Given the description of an element on the screen output the (x, y) to click on. 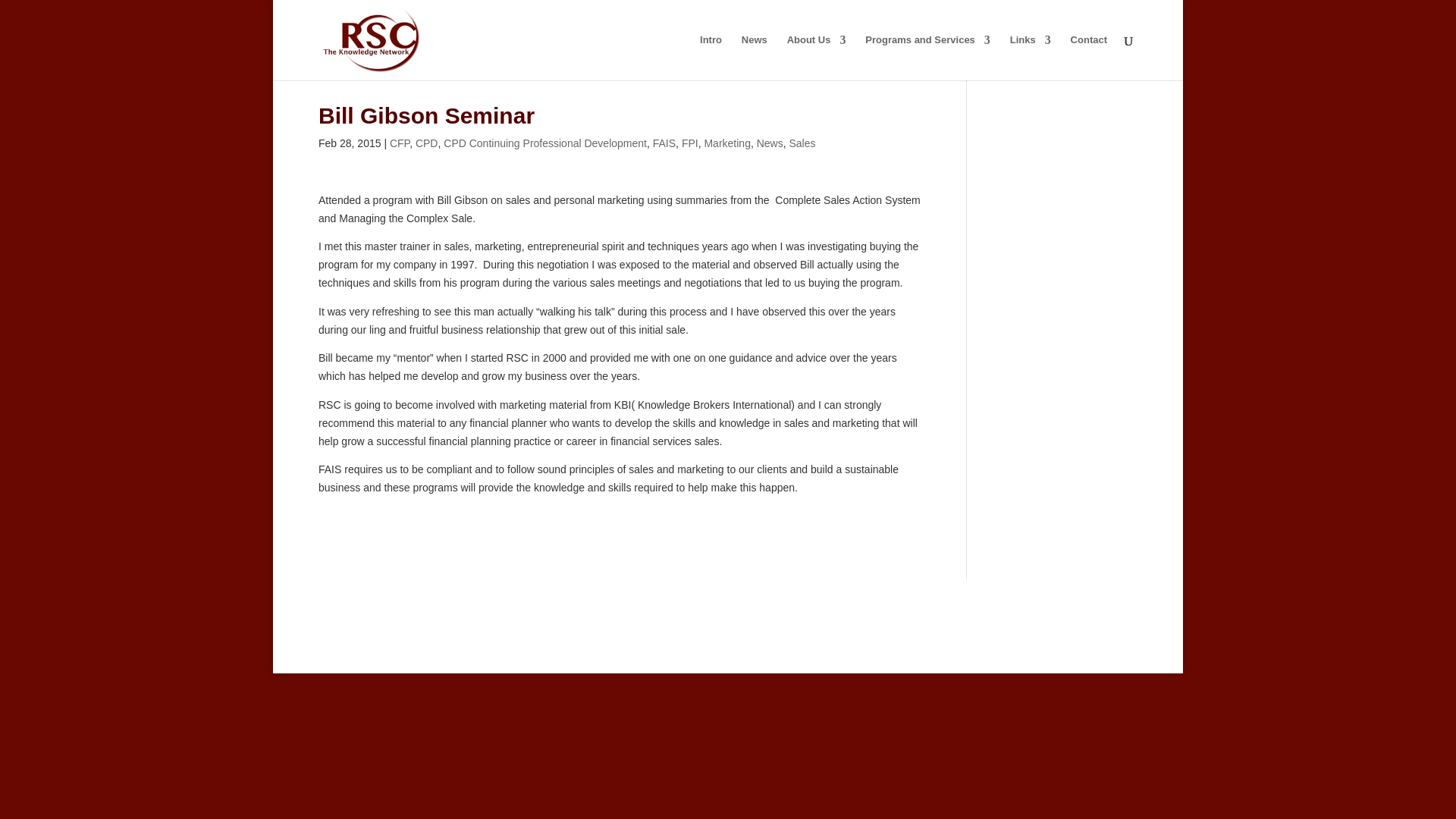
FAIS (663, 143)
FPI (689, 143)
CPD (426, 143)
Marketing (726, 143)
Links (1030, 57)
News (770, 143)
Sales (802, 143)
About Us (816, 57)
CPD Continuing Professional Development (545, 143)
Programs and Services (927, 57)
CFP (399, 143)
